Given the description of an element on the screen output the (x, y) to click on. 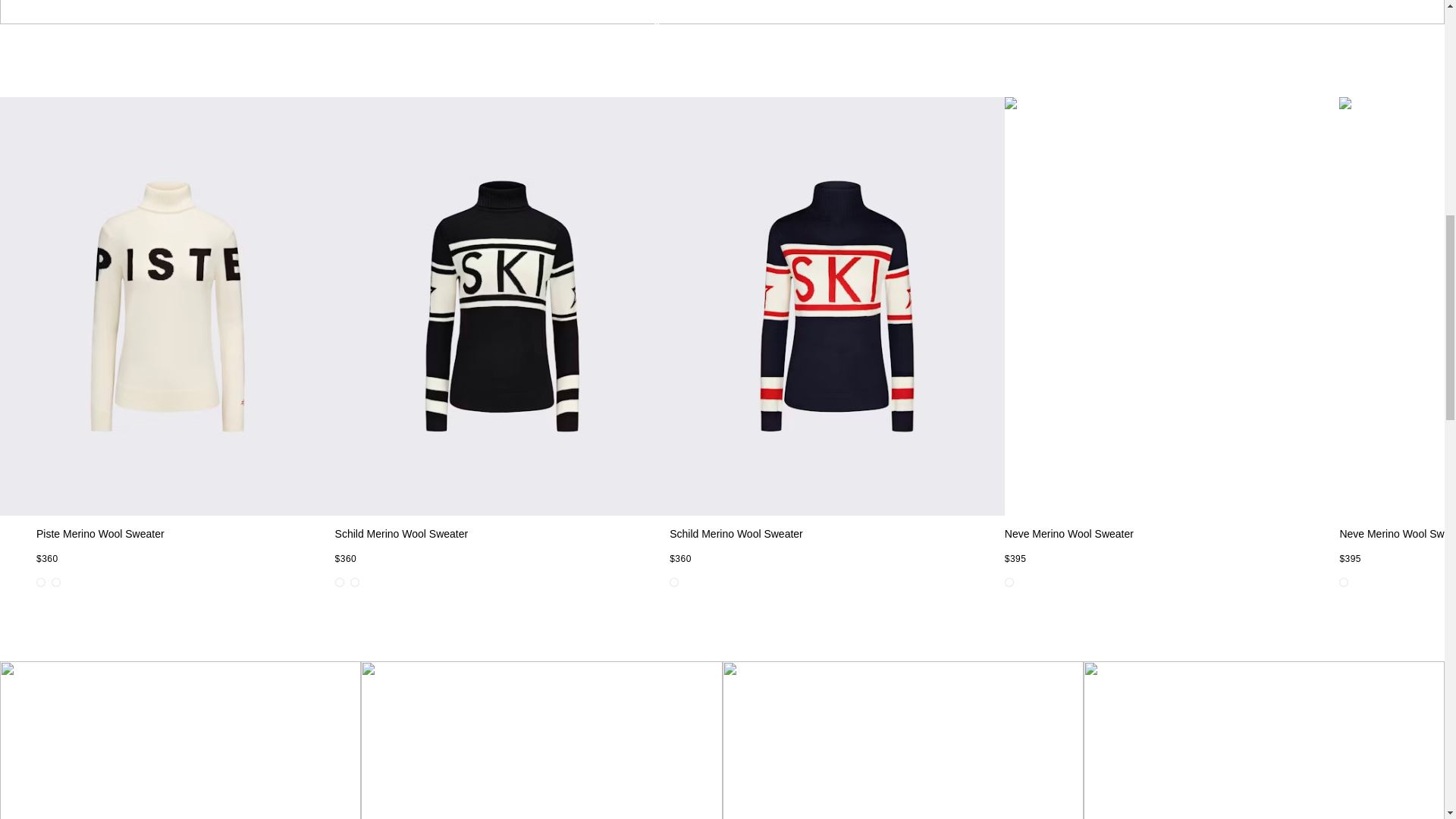
Navy (673, 582)
Black (55, 582)
Black (338, 582)
White (1343, 582)
White (354, 582)
Snow White (40, 582)
Black (1008, 582)
